Given the description of an element on the screen output the (x, y) to click on. 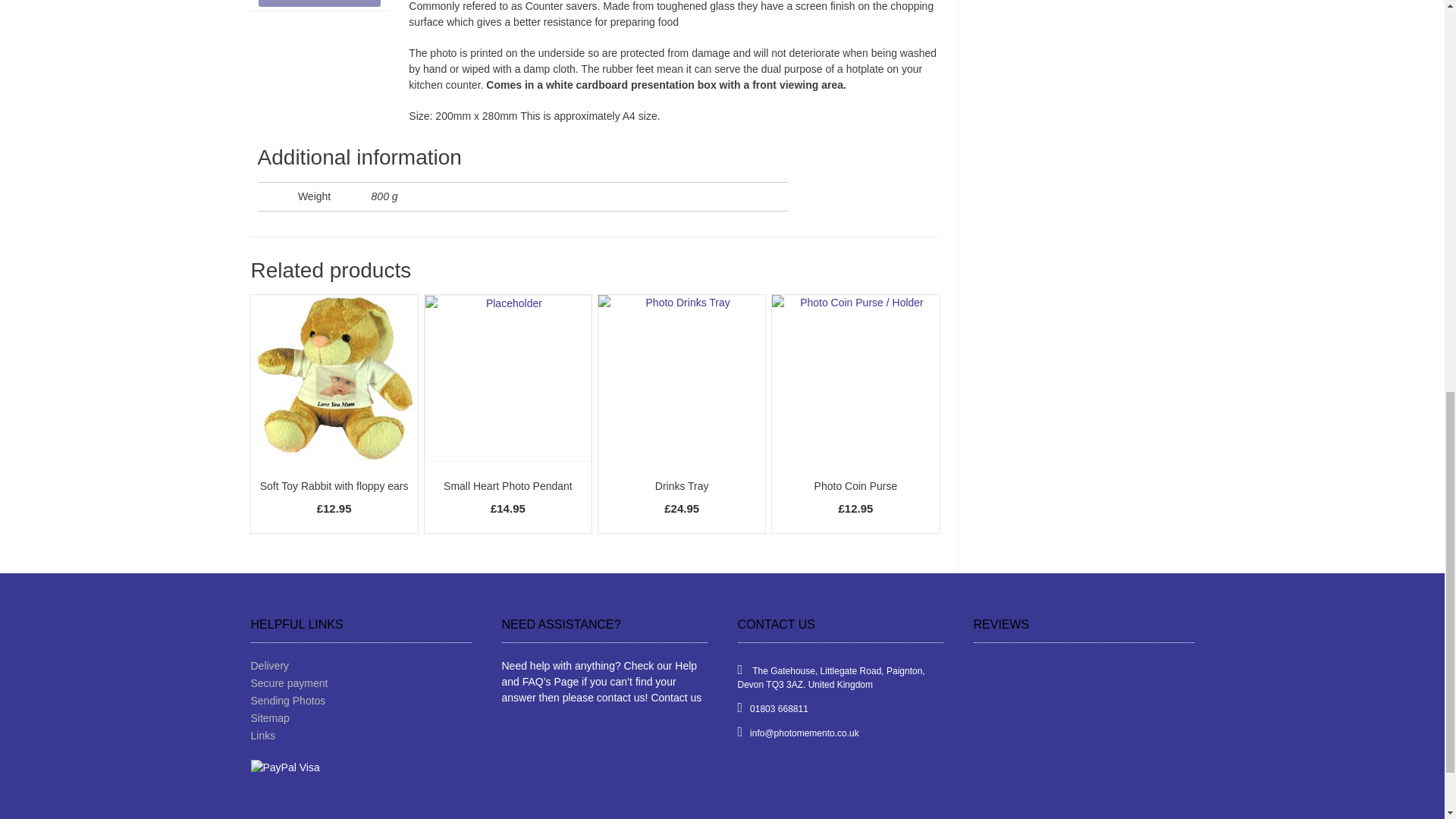
Delivery (360, 666)
Sending Photos (360, 700)
Secure payment (360, 683)
Additional information (318, 3)
Sitemap (360, 718)
